Given the description of an element on the screen output the (x, y) to click on. 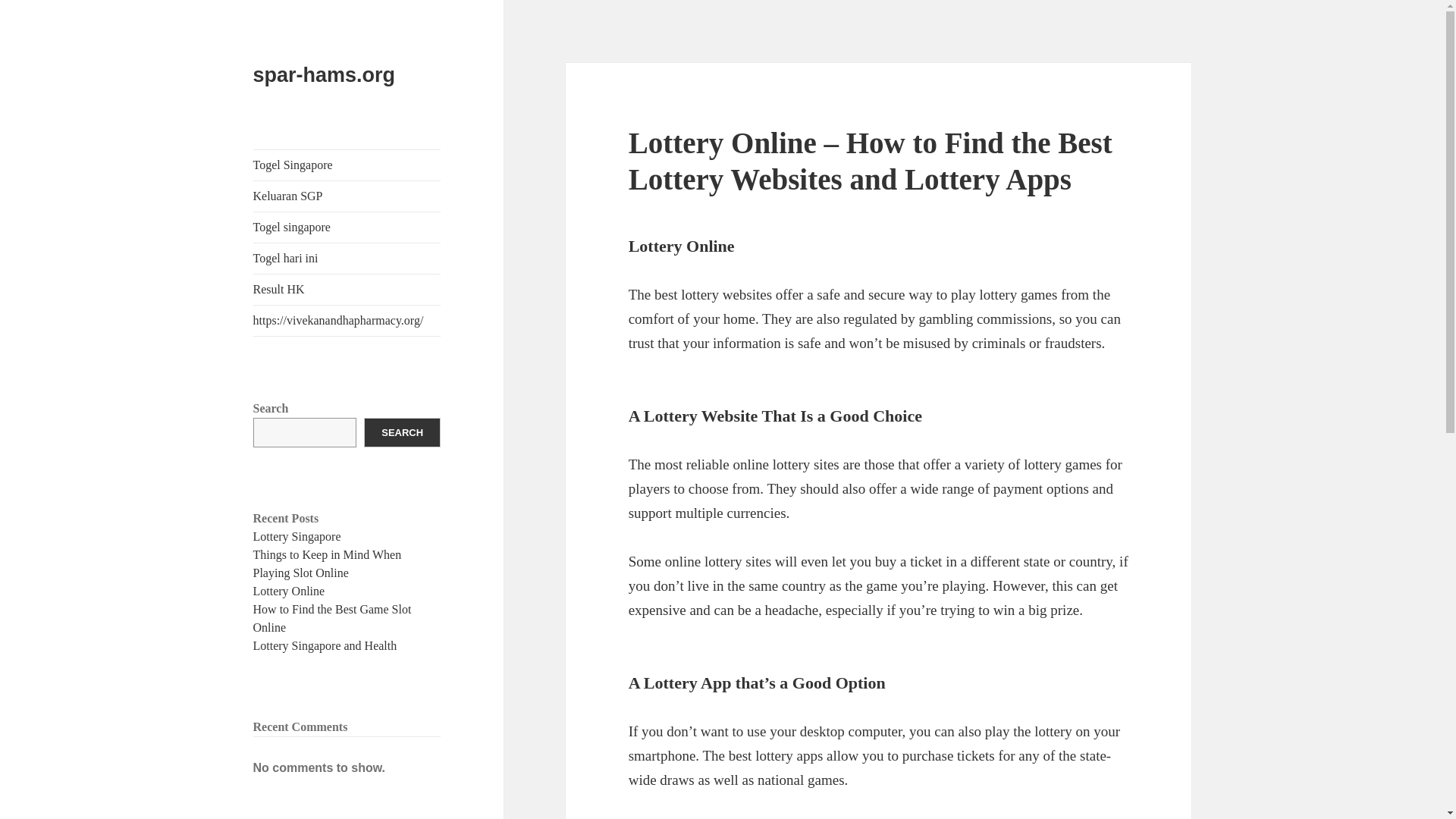
Togel Singapore (347, 164)
spar-hams.org (324, 74)
SEARCH (402, 432)
How to Find the Best Game Slot Online (332, 617)
Togel singapore (347, 227)
Togel hari ini (347, 258)
Keluaran SGP (347, 195)
Things to Keep in Mind When Playing Slot Online (327, 563)
Result HK (347, 289)
Lottery Singapore (296, 535)
